Given the description of an element on the screen output the (x, y) to click on. 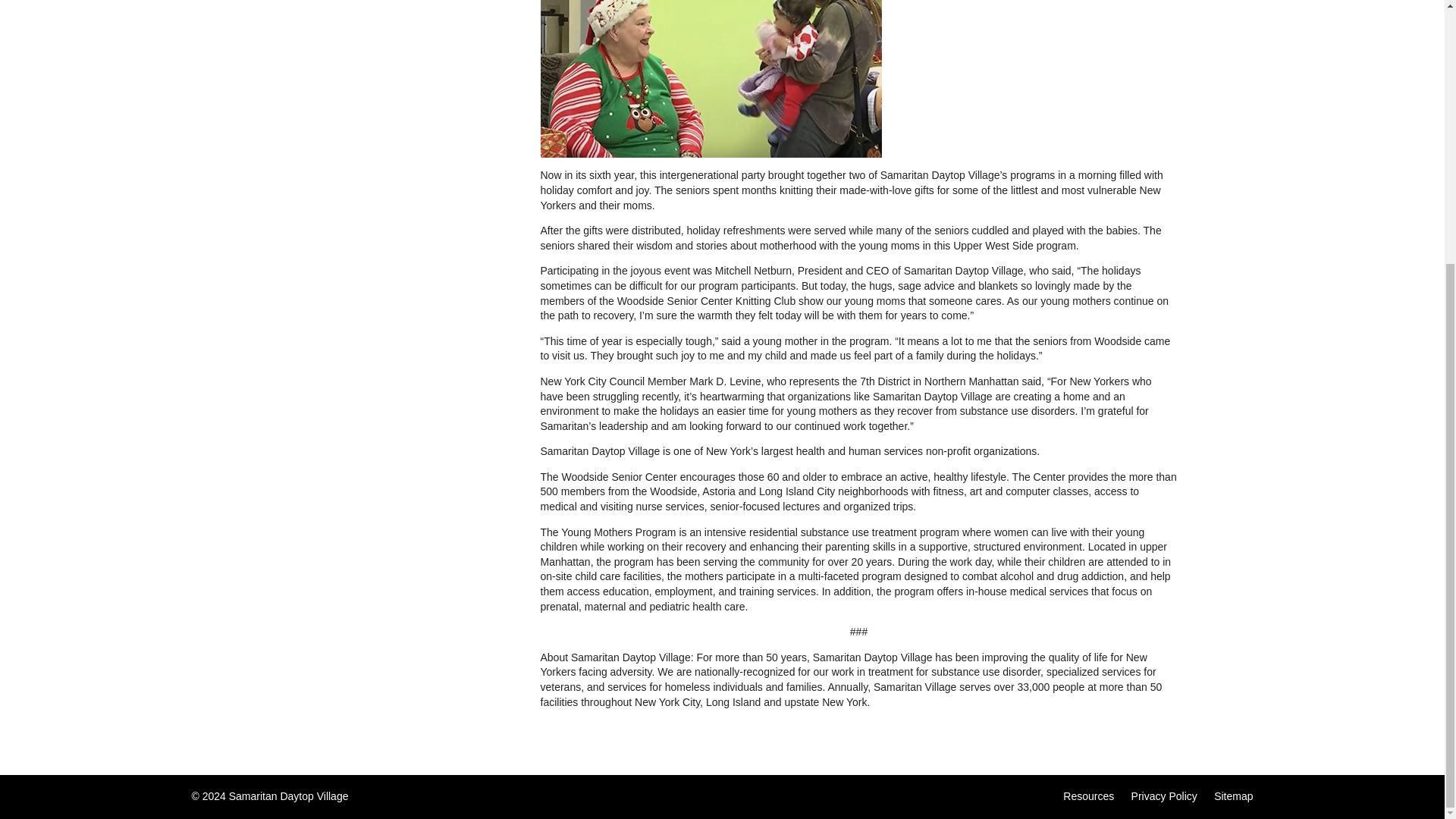
Privacy Policy (1163, 796)
Sitemap (1233, 796)
Resources (1087, 796)
